Given the description of an element on the screen output the (x, y) to click on. 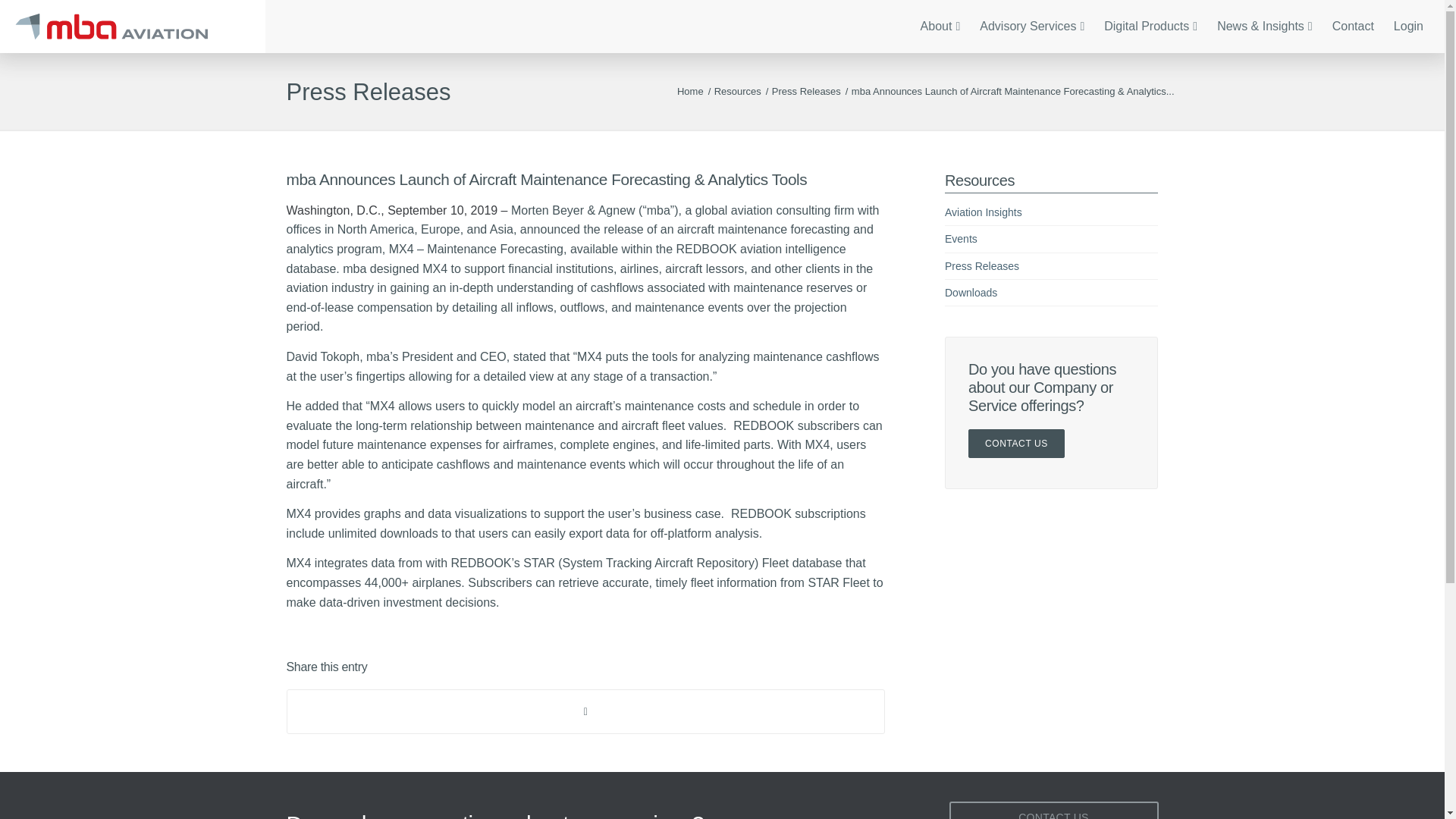
Login (1408, 26)
Contact (1353, 26)
mba Aviation (690, 91)
Advisory Services (1031, 26)
CONTACT US (1016, 443)
Press Releases (1050, 266)
Aviation Insights (1050, 212)
Resources (736, 91)
Downloads (1050, 292)
Digital Products (1150, 26)
